Given the description of an element on the screen output the (x, y) to click on. 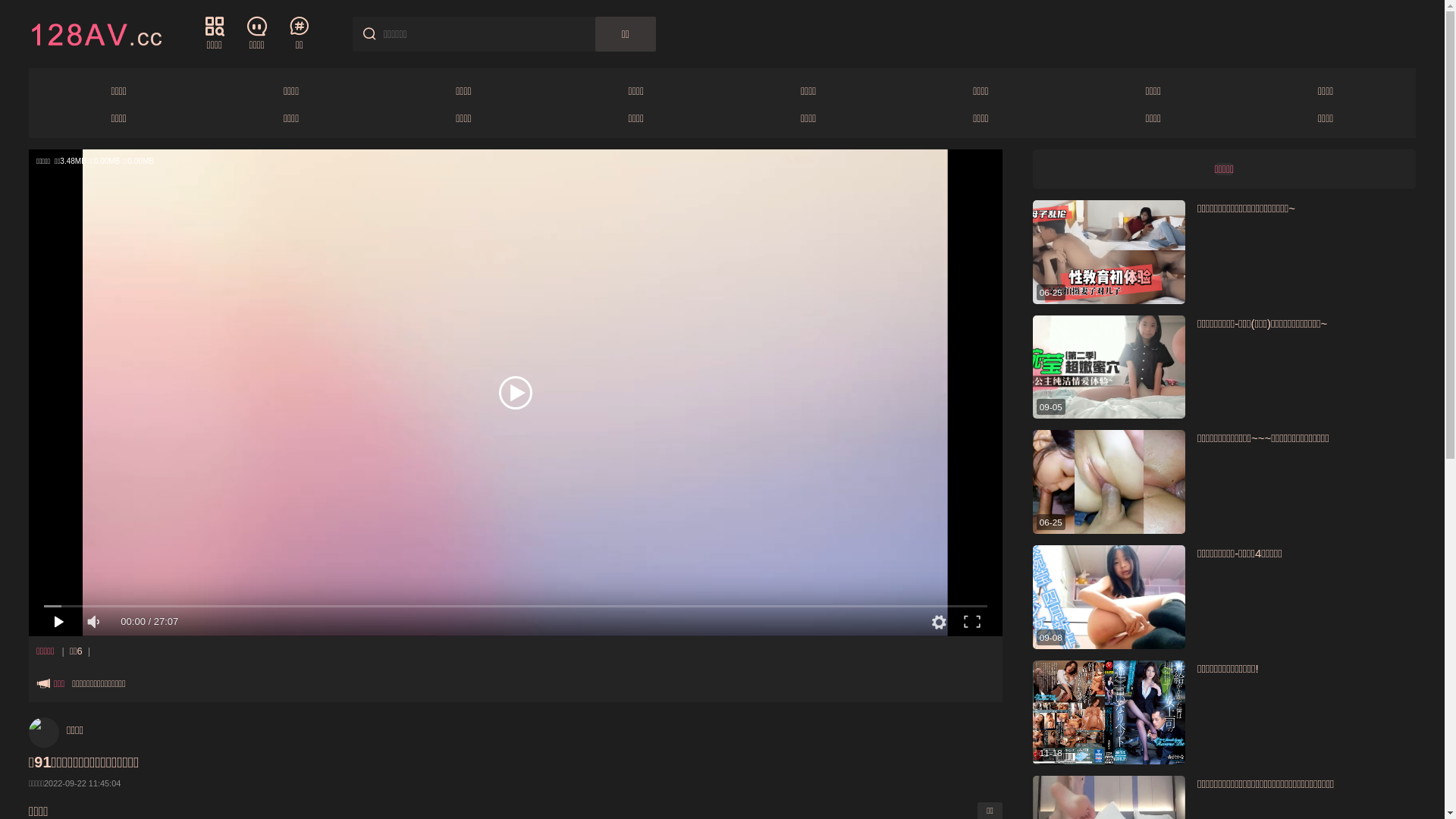
06-25 Element type: text (1108, 481)
09-05 Element type: text (1108, 367)
11-18 Element type: text (1108, 712)
06-25 Element type: text (1108, 252)
09-08 Element type: text (1108, 597)
128AV Element type: hover (94, 33)
